Given the description of an element on the screen output the (x, y) to click on. 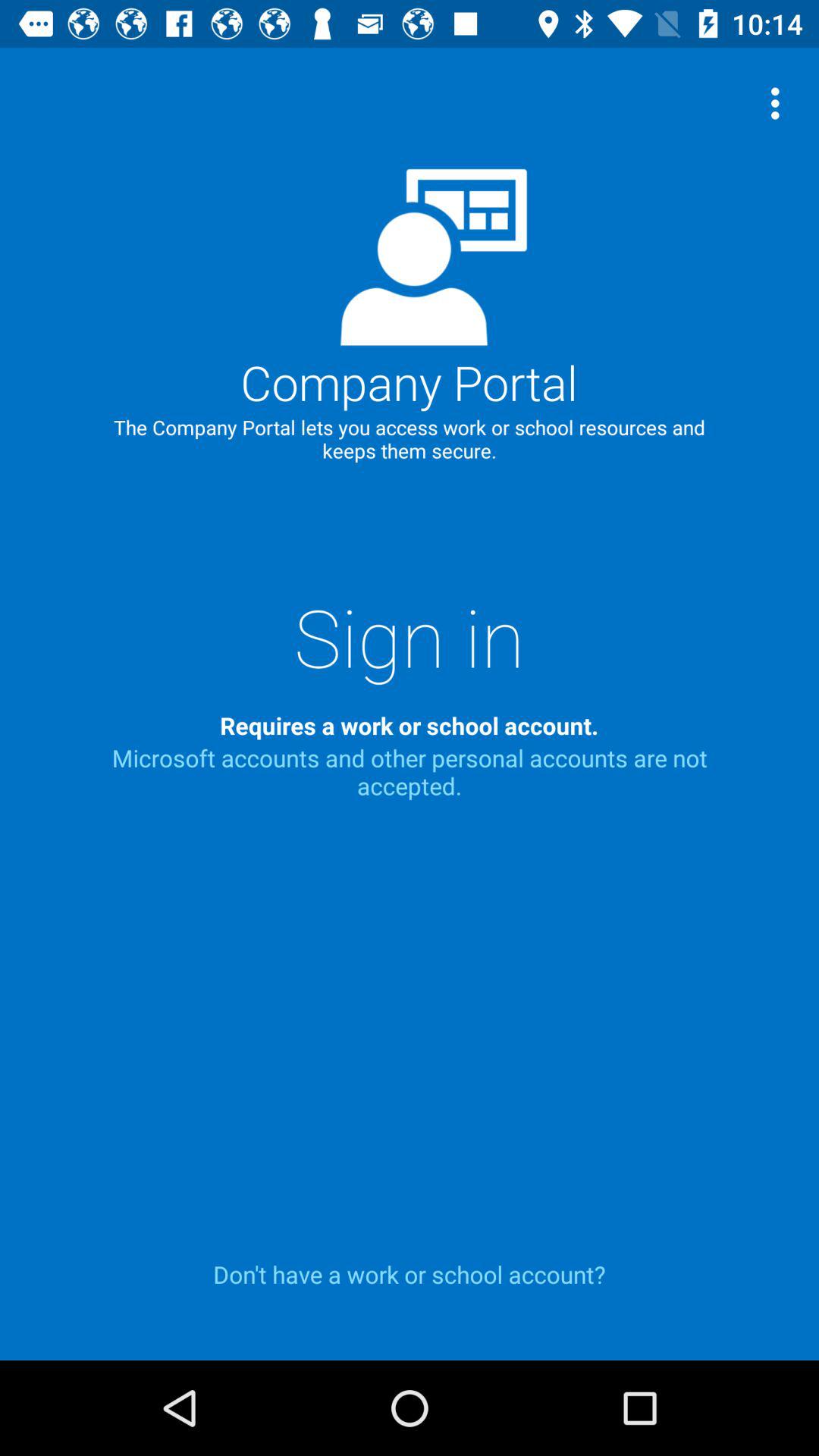
scroll to the sign in icon (409, 636)
